Given the description of an element on the screen output the (x, y) to click on. 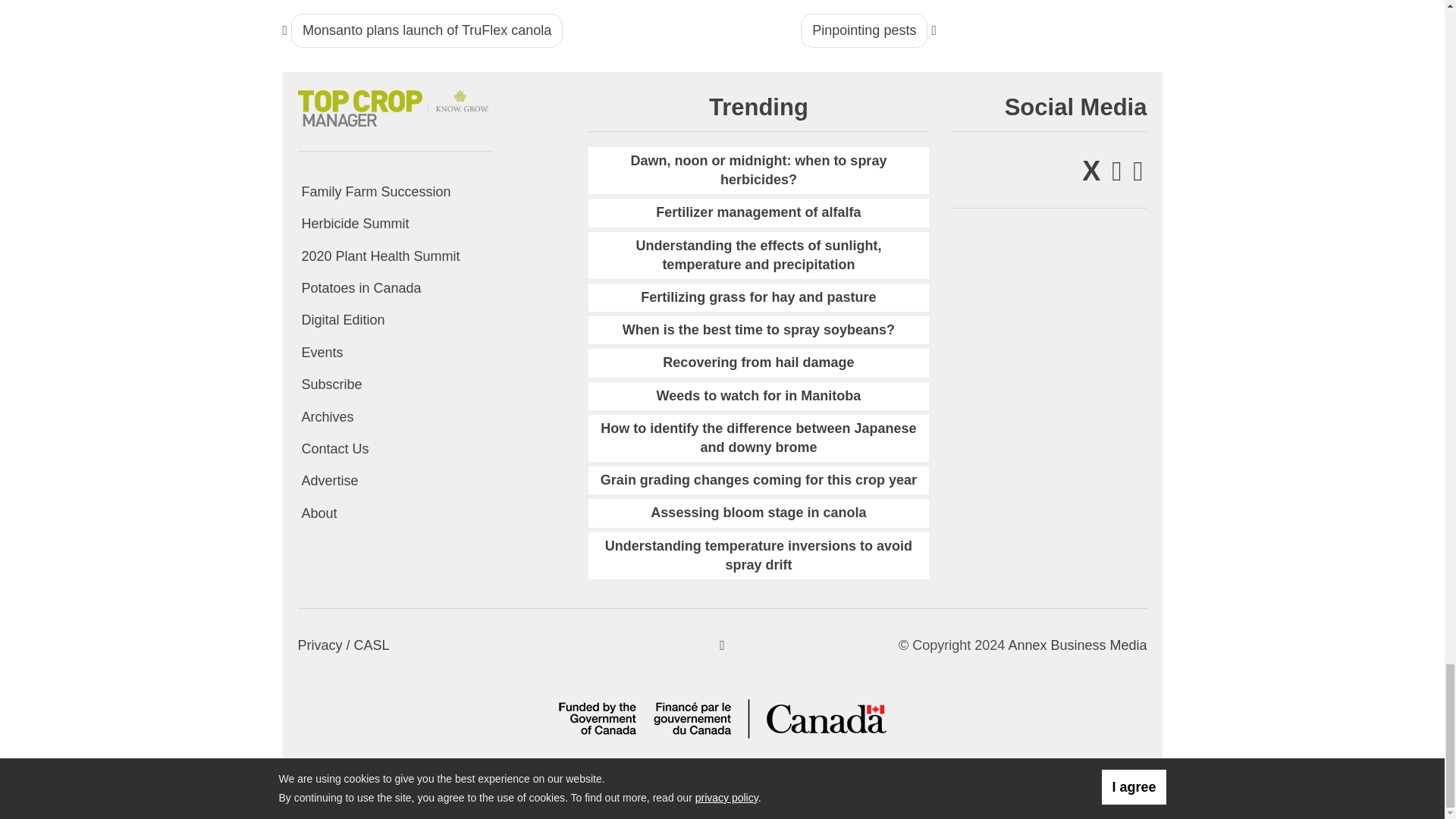
Annex Business Media (1077, 645)
Top Crop Manager (395, 105)
